Given the description of an element on the screen output the (x, y) to click on. 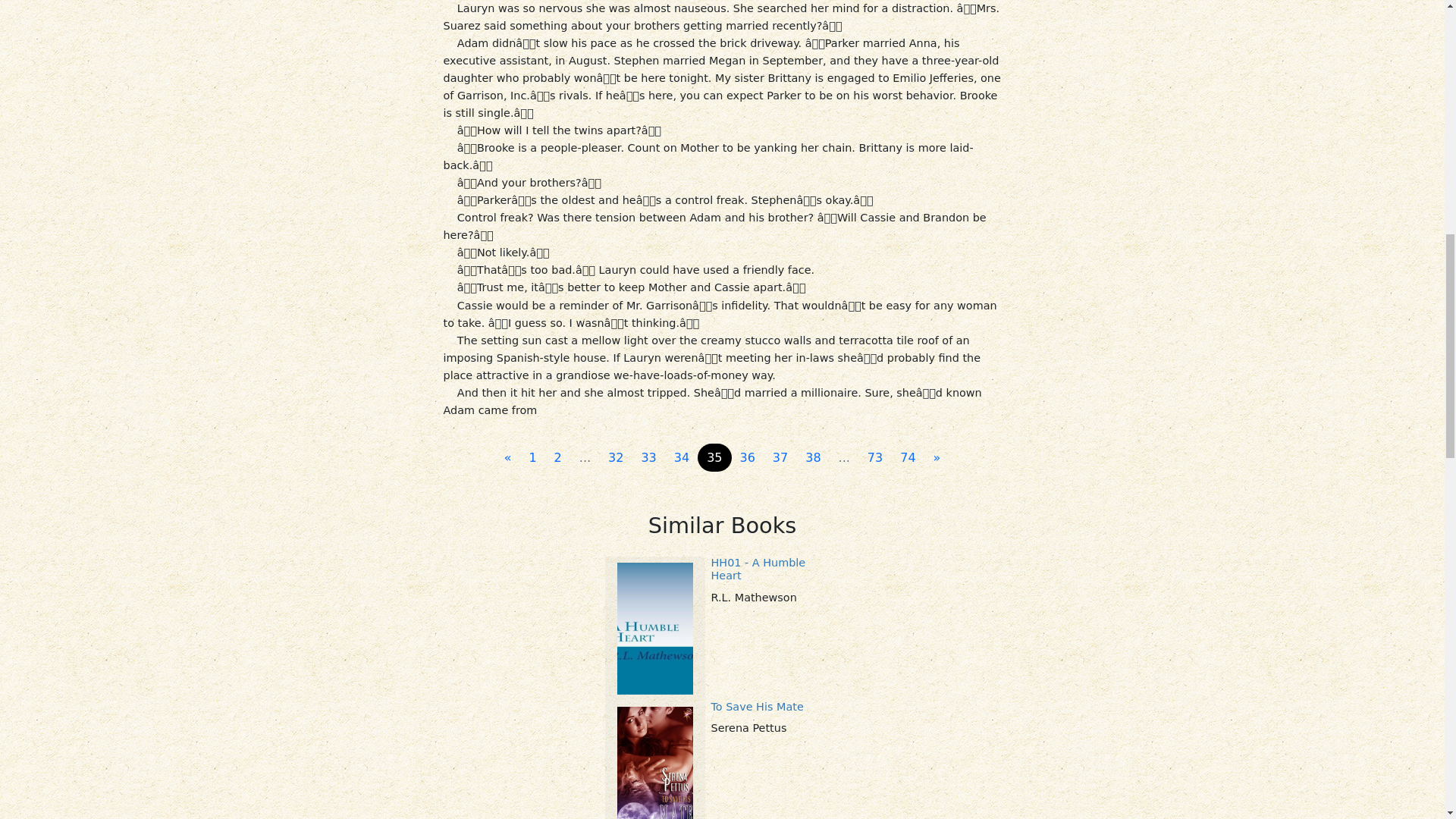
... (844, 457)
1 (531, 457)
36 (747, 457)
73 (875, 457)
37 (779, 457)
2 (557, 457)
32 (614, 457)
74 (907, 457)
38 (812, 457)
33 (648, 457)
... (584, 457)
35 (713, 457)
34 (681, 457)
